Given the description of an element on the screen output the (x, y) to click on. 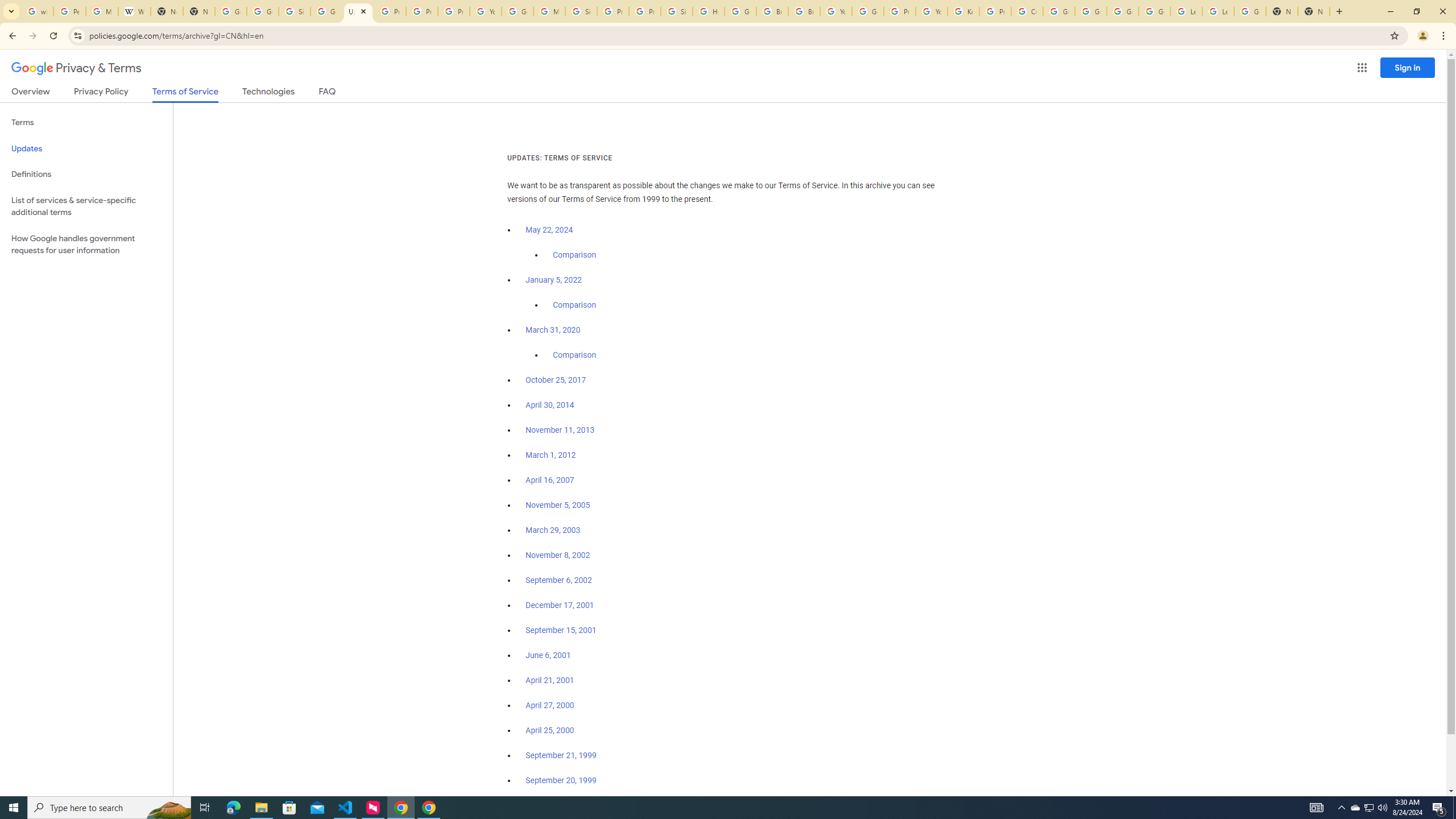
April 16, 2007 (550, 480)
March 29, 2003 (552, 530)
Wikipedia:Edit requests - Wikipedia (134, 11)
Create your Google Account (1027, 11)
New Tab (1281, 11)
Google Account Help (517, 11)
November 11, 2013 (560, 430)
Google Account Help (1154, 11)
